Given the description of an element on the screen output the (x, y) to click on. 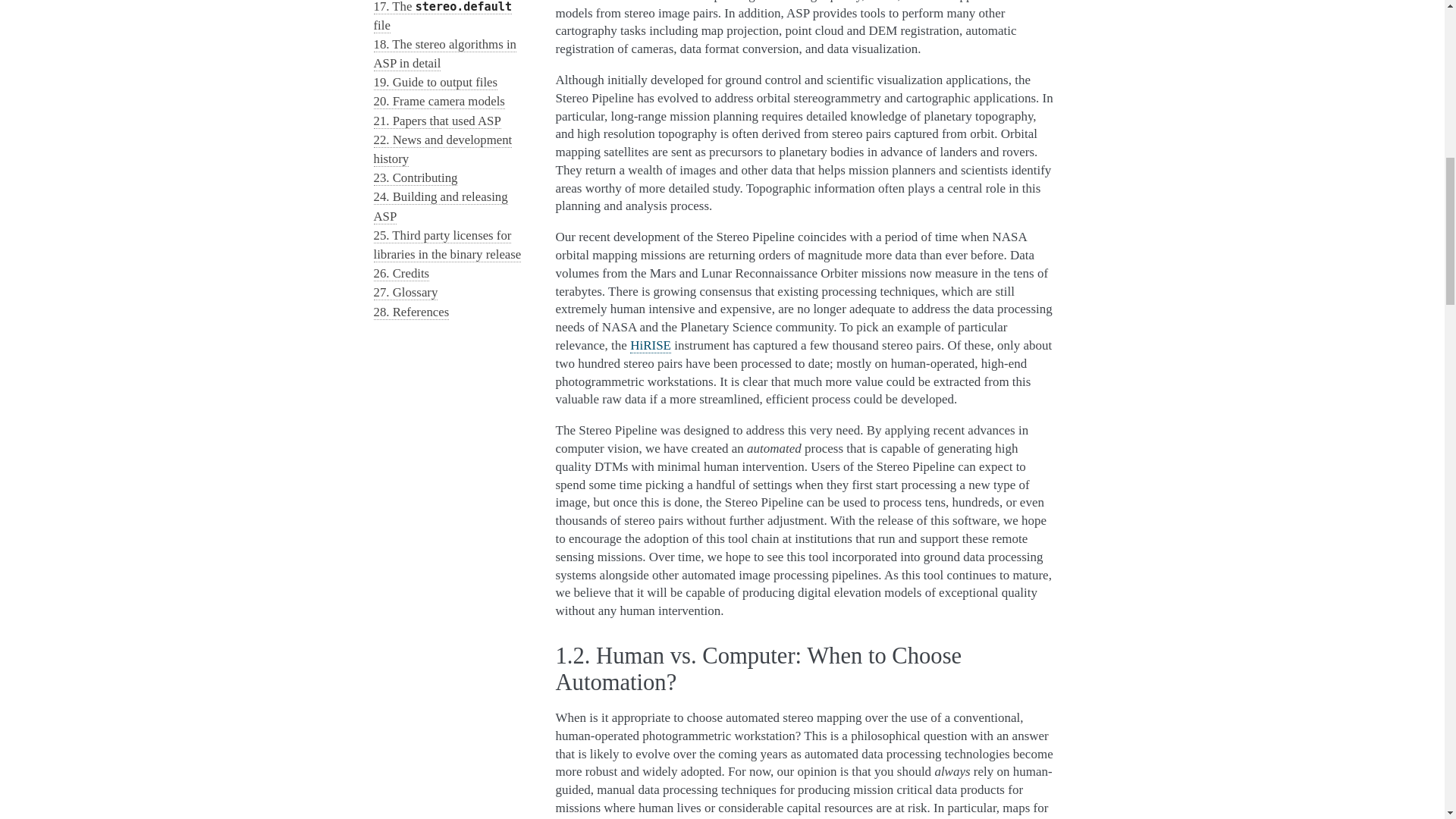
HiRISE (650, 345)
